Given the description of an element on the screen output the (x, y) to click on. 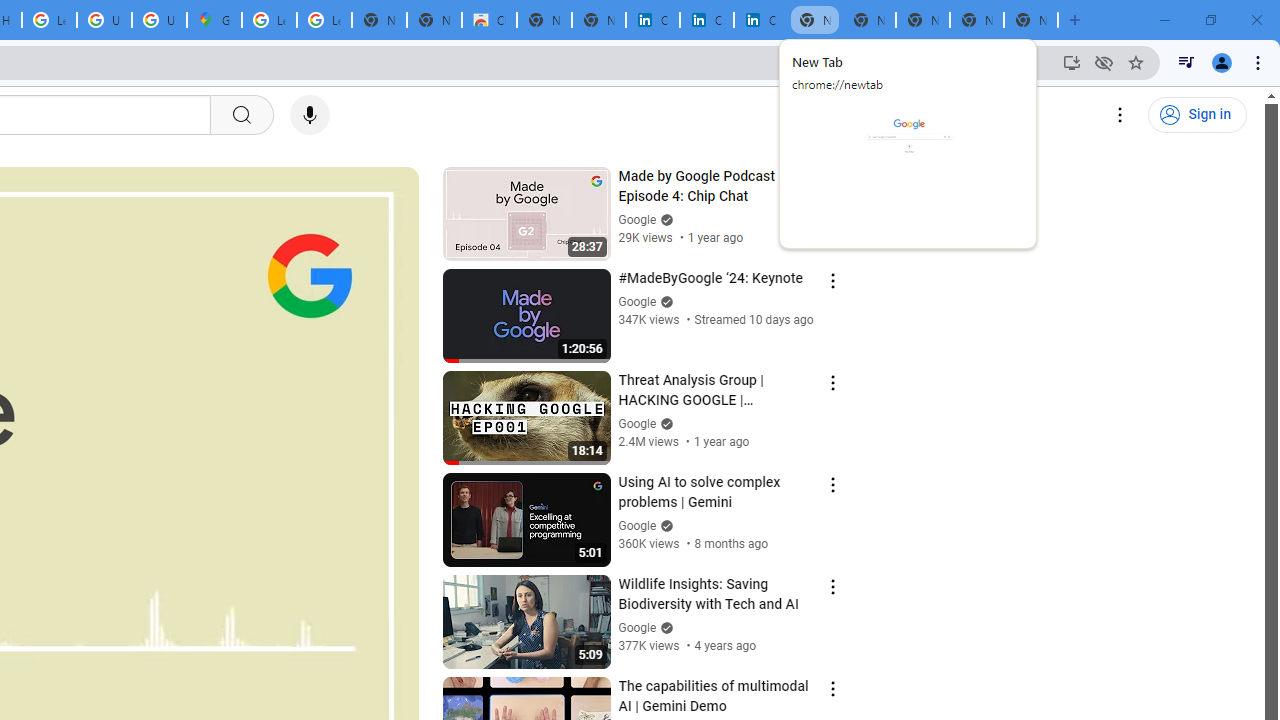
Google Maps (213, 20)
Settings (1119, 115)
Cookie Policy | LinkedIn (706, 20)
Search with your voice (309, 115)
New Tab (1030, 20)
Chrome Web Store (489, 20)
Copyright Policy (760, 20)
Install YouTube (1071, 62)
